Given the description of an element on the screen output the (x, y) to click on. 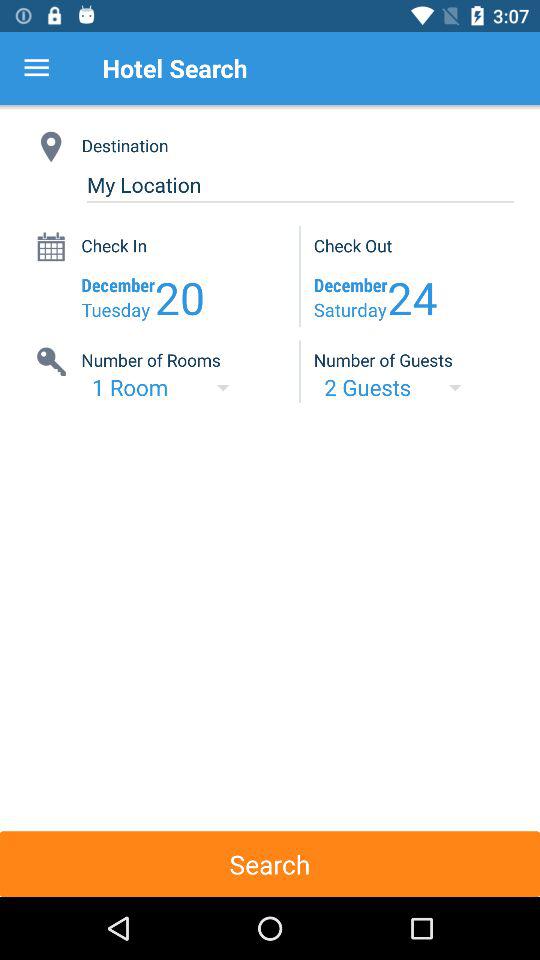
open icon to the left of the hotel search icon (36, 68)
